Given the description of an element on the screen output the (x, y) to click on. 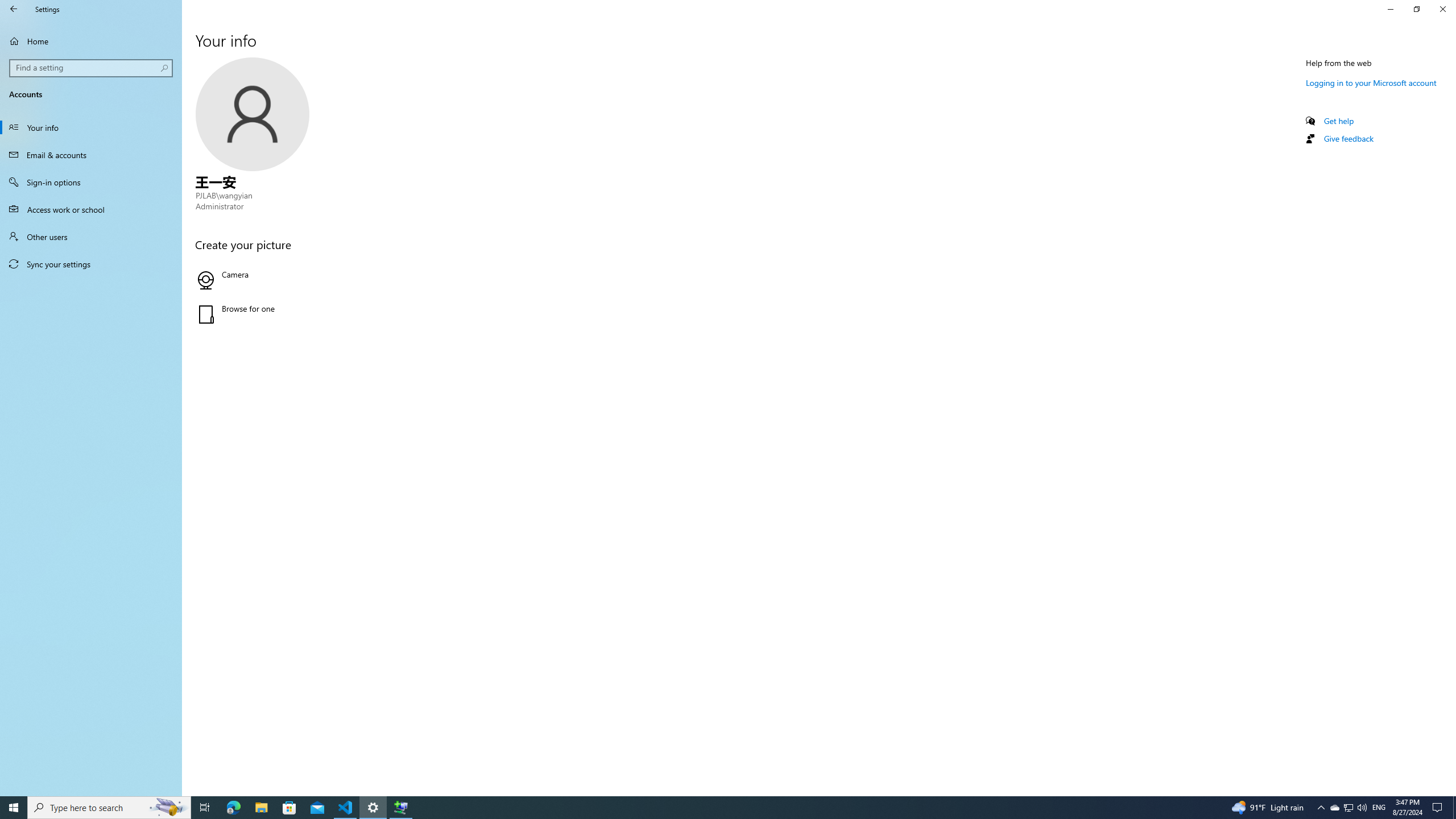
Search box, Find a setting (91, 67)
Get help (1338, 120)
Give feedback (1348, 138)
Email & accounts (91, 154)
Minimize Settings (1390, 9)
